Given the description of an element on the screen output the (x, y) to click on. 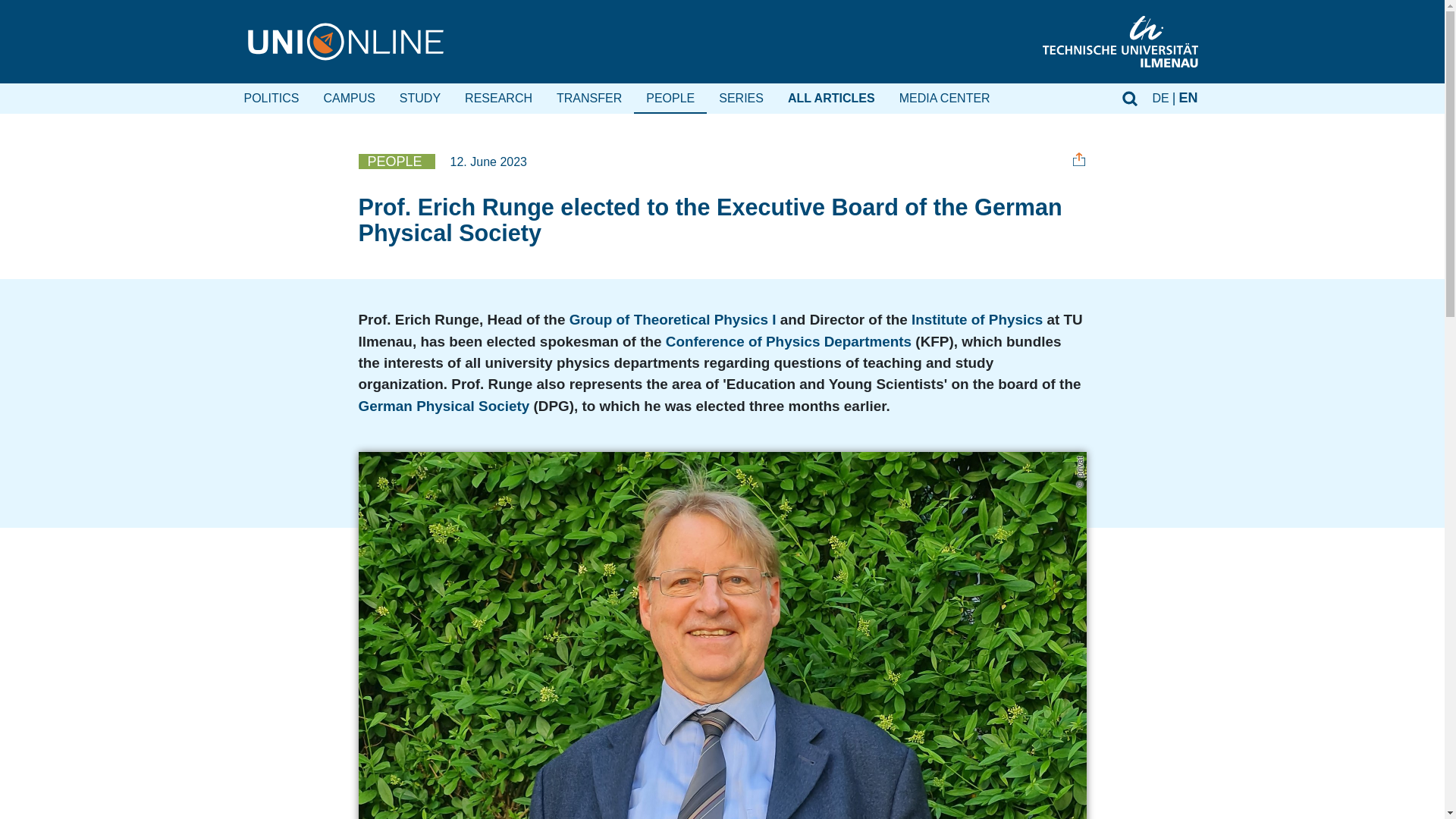
PEOPLE (403, 160)
Conference of Physics Departments (788, 341)
CAMPUS (349, 97)
ALL ARTICLES (831, 97)
Open website of TU Ilmenau (1120, 41)
RESEARCH (498, 97)
Group of Theoretical Physics I (672, 319)
TRANSFER (588, 97)
Open Homepage (346, 41)
STUDY (419, 97)
SERIES (741, 97)
DE (1166, 97)
MEDIA CENTER (944, 97)
PEOPLE (669, 97)
POLITICS (271, 97)
